Given the description of an element on the screen output the (x, y) to click on. 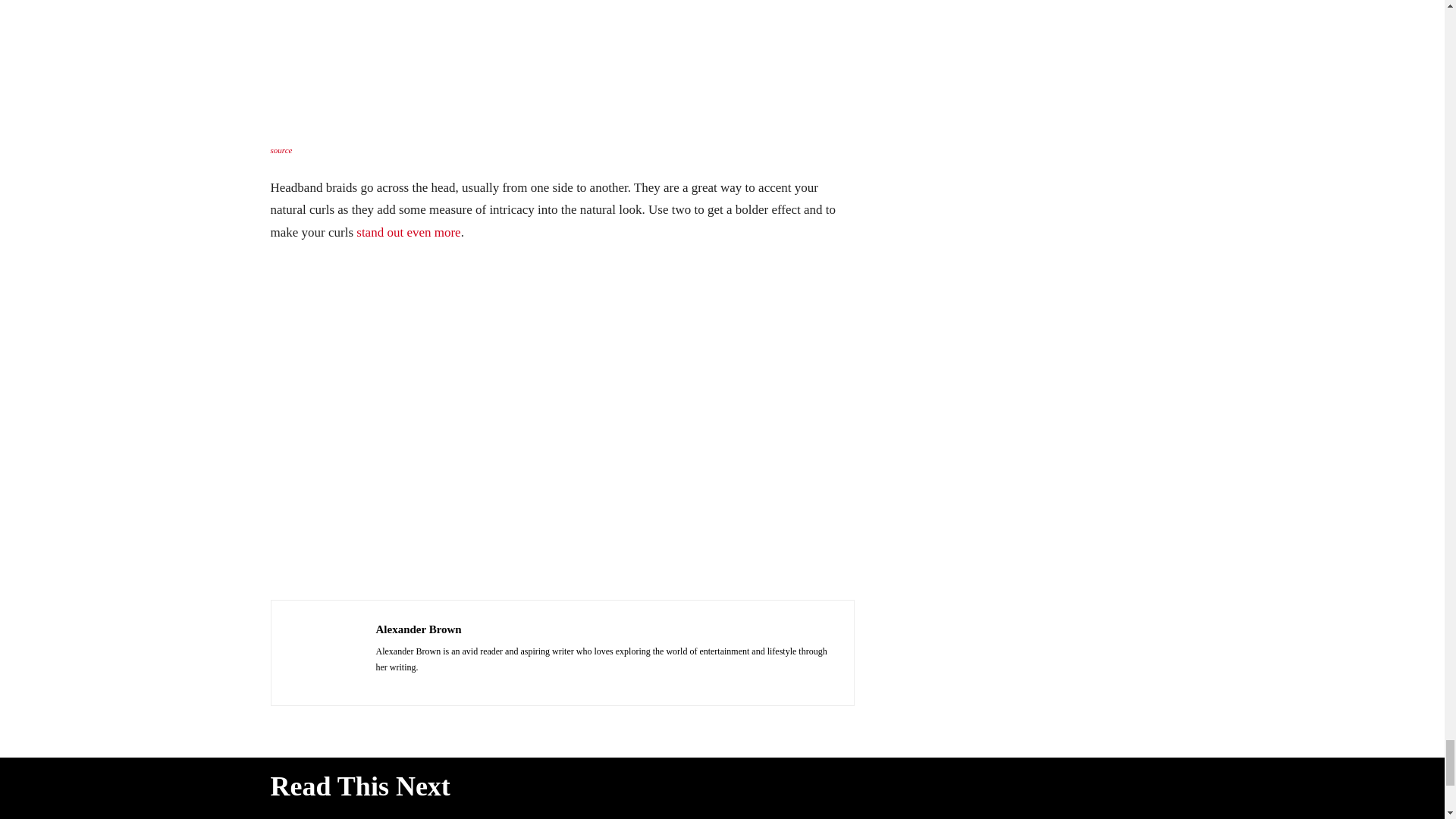
Alexander Brown (322, 652)
